Given the description of an element on the screen output the (x, y) to click on. 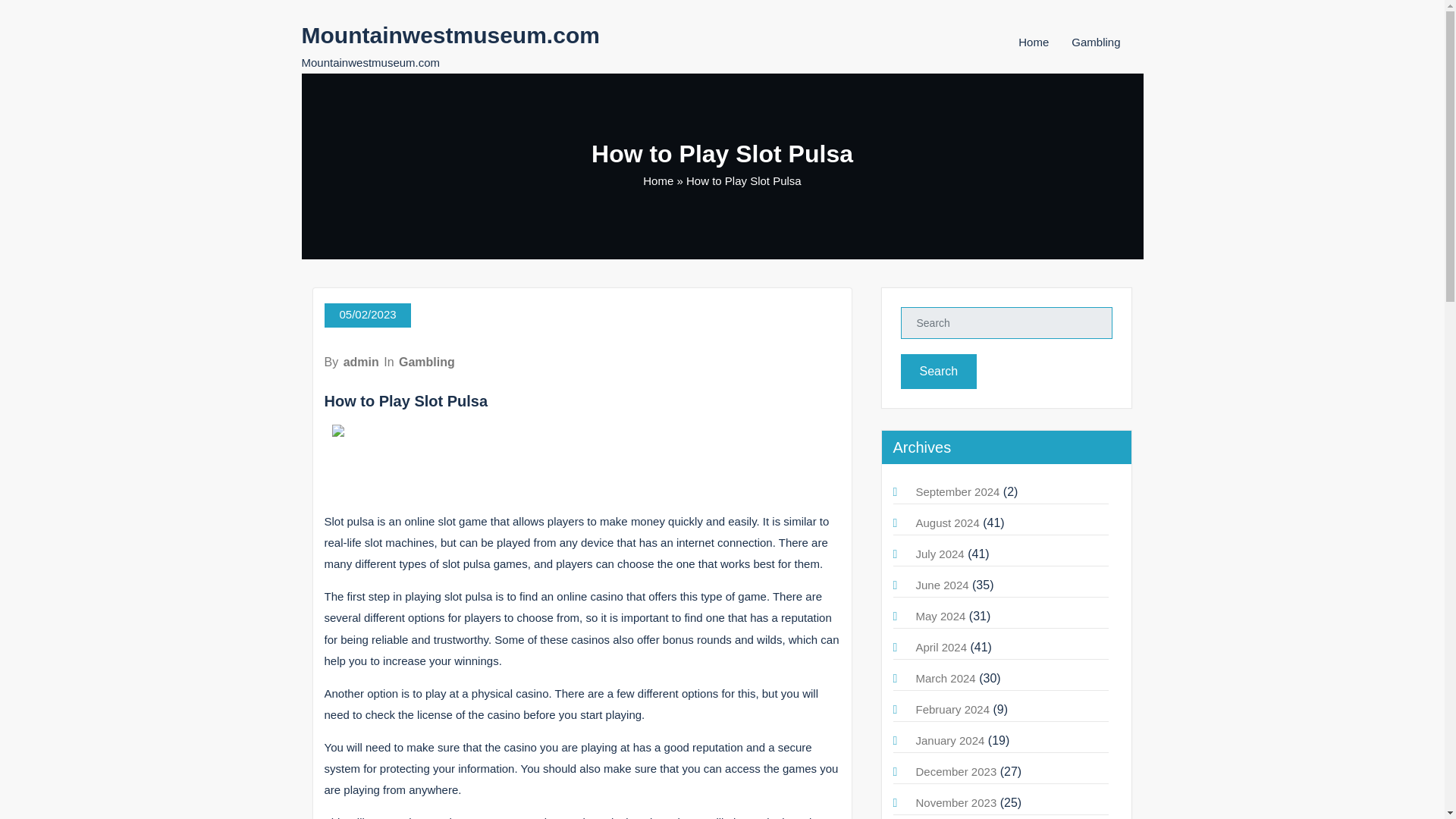
admin (361, 361)
April 2024 (941, 646)
July 2024 (939, 553)
Gambling (1095, 41)
September 2024 (957, 491)
June 2024 (942, 584)
January 2024 (950, 739)
December 2023 (956, 771)
February 2024 (952, 708)
Home (1032, 41)
